Given the description of an element on the screen output the (x, y) to click on. 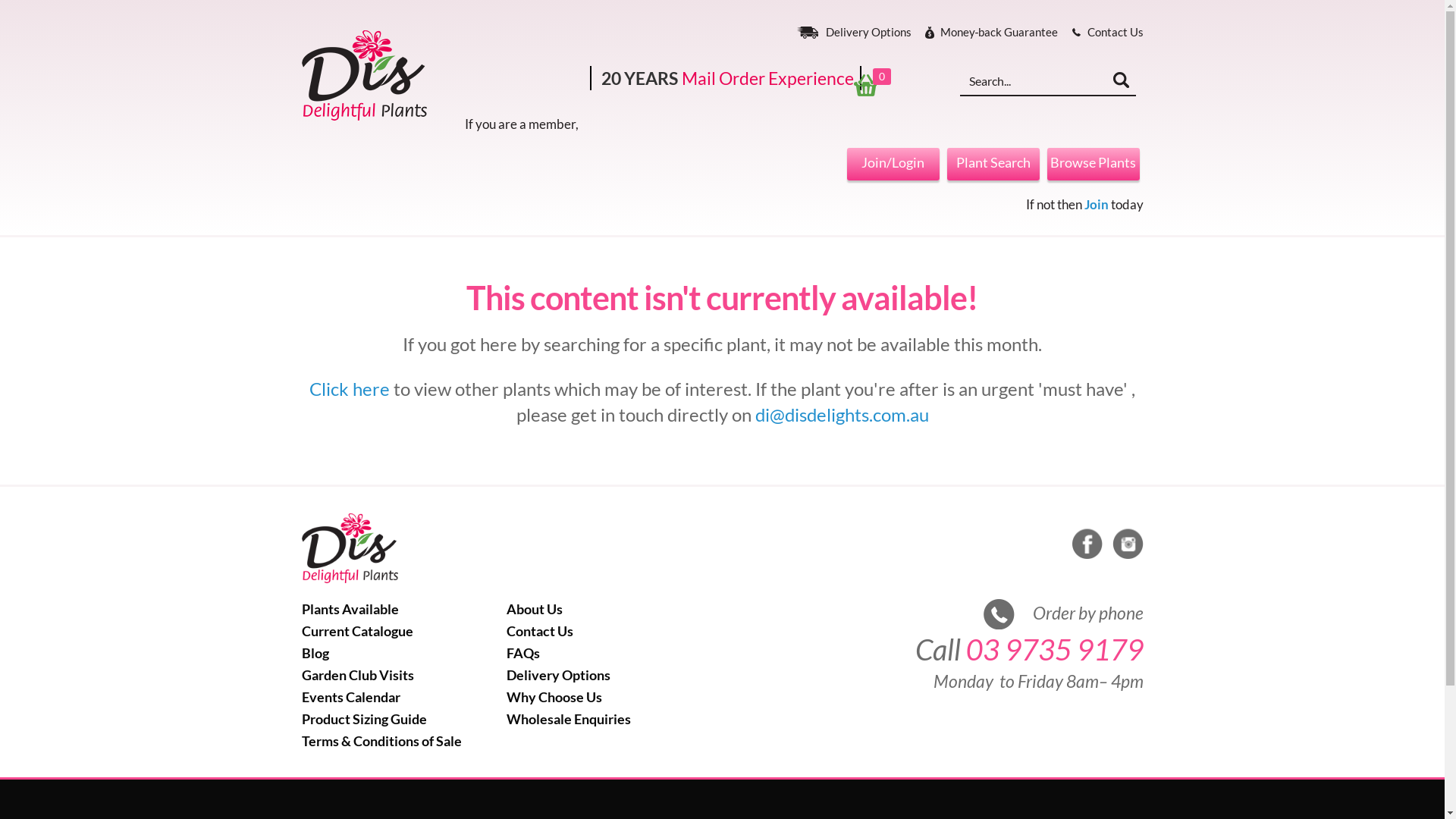
Garden Club Visits Element type: text (357, 673)
Events Calendar Element type: text (350, 695)
Wholesale Enquiries Element type: text (568, 717)
Blog Element type: text (315, 651)
Browse Plants Element type: text (1092, 163)
Delivery Options Element type: text (558, 673)
Click here Element type: text (349, 388)
Terms & Conditions of Sale Element type: text (381, 738)
FAQs Element type: text (522, 651)
Join/Login Element type: text (892, 163)
Why Choose Us Element type: text (554, 695)
Plants Available Element type: text (349, 607)
About Us Element type: text (534, 607)
Contact Us Element type: text (1100, 32)
Contact Us Element type: text (539, 629)
Plant Search Element type: text (992, 163)
Delivery Options Element type: text (849, 32)
di@disdelights.com.au Element type: text (841, 414)
0 Element type: text (874, 83)
03 9735 9179 Element type: text (1054, 649)
Join Element type: text (1096, 204)
Current Catalogue Element type: text (357, 629)
Product Sizing Guide Element type: text (363, 717)
